Given the description of an element on the screen output the (x, y) to click on. 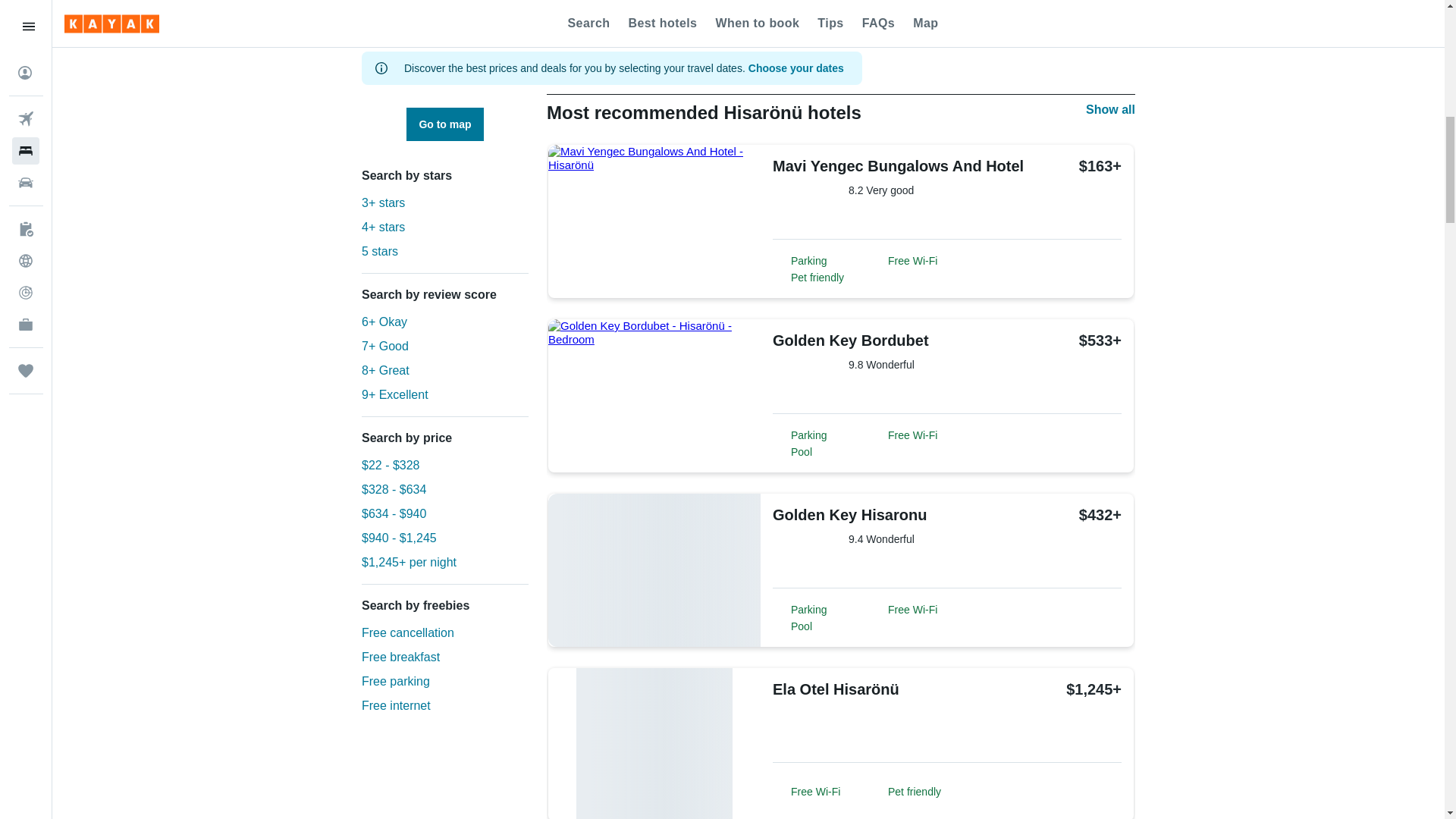
Golden Key Hisaronu (860, 515)
Show all (1110, 109)
Mavi Yengec Bungalows And Hotel (898, 166)
Golden Key Bordubet (860, 340)
